Given the description of an element on the screen output the (x, y) to click on. 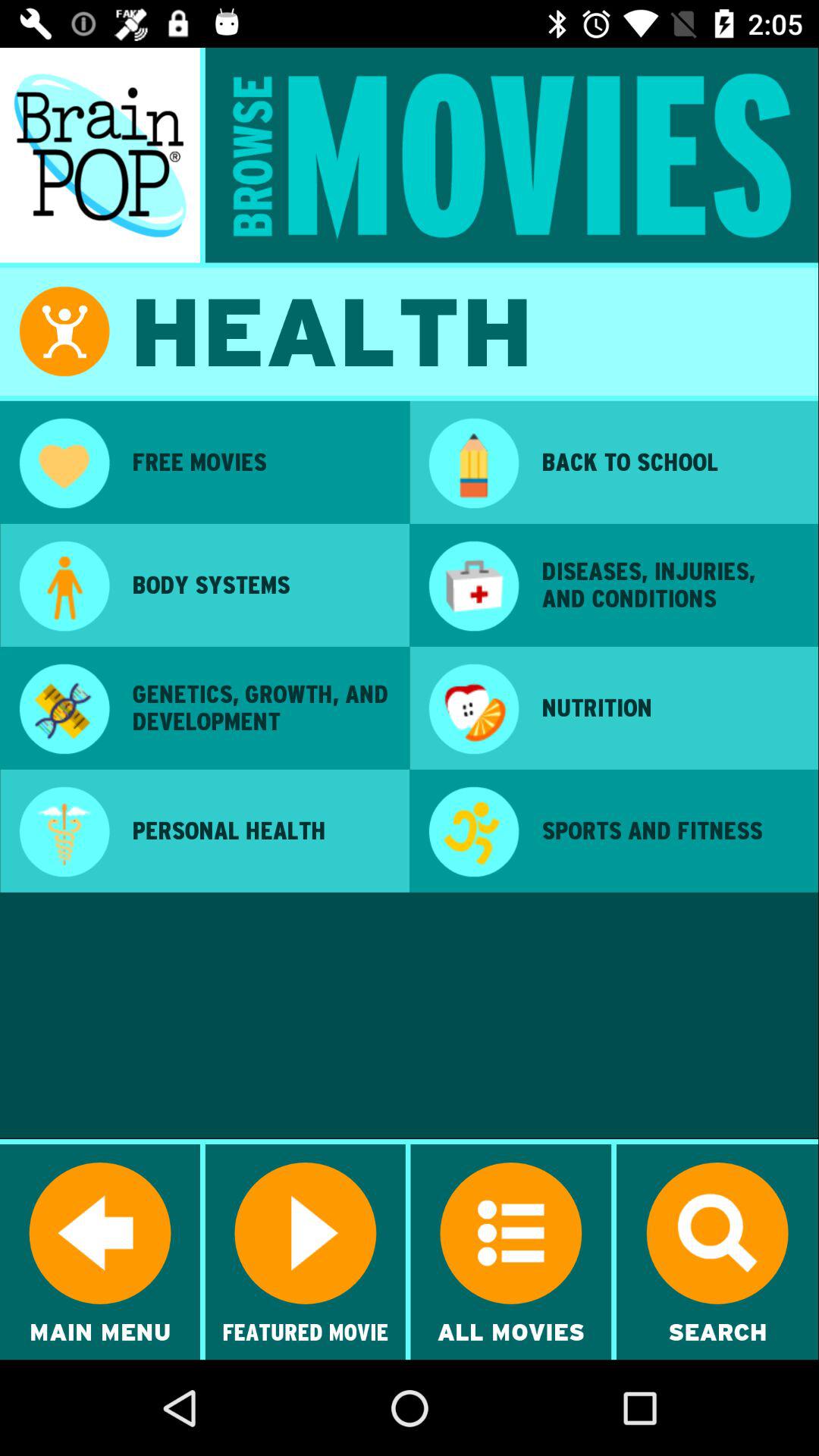
click the app next to the personal health (63, 833)
